Given the description of an element on the screen output the (x, y) to click on. 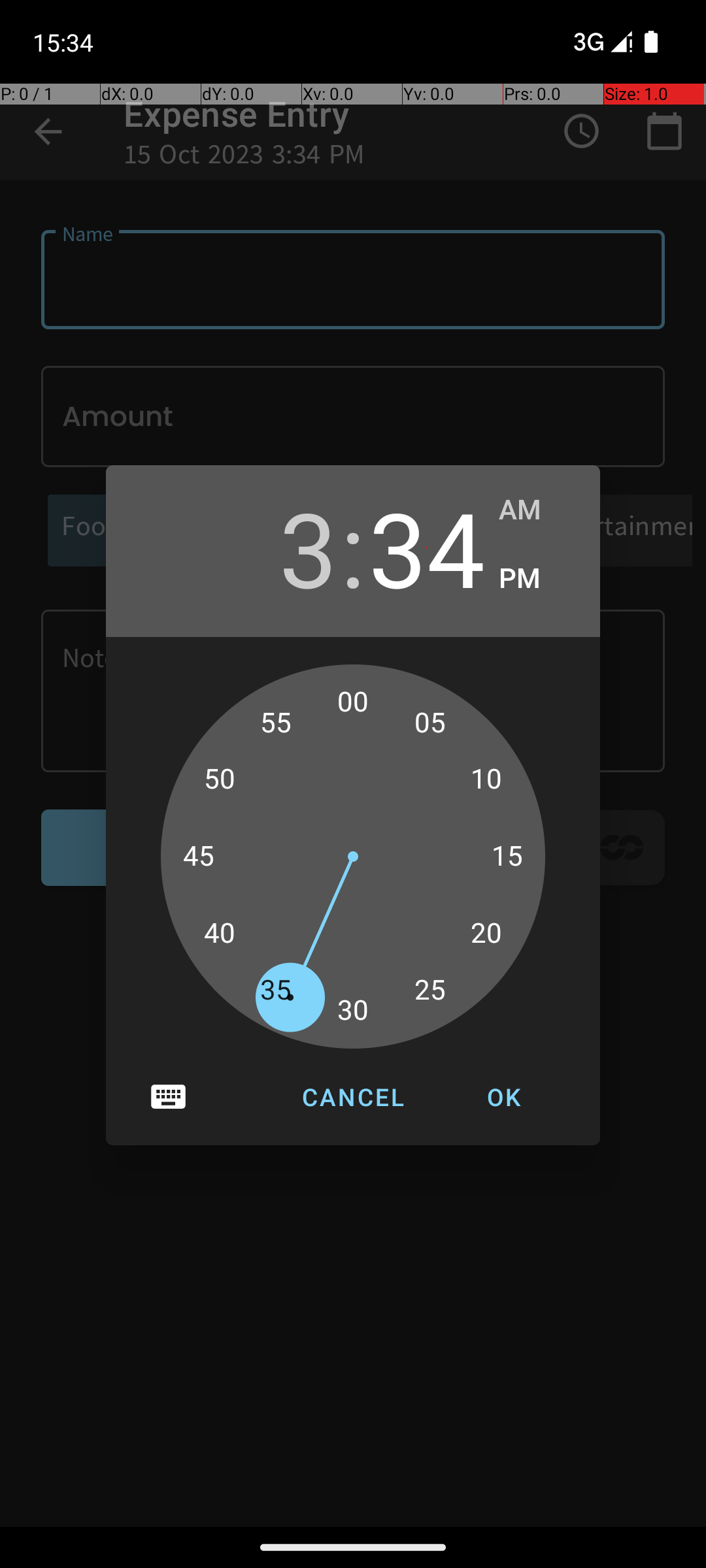
34 Element type: android.widget.TextView (426, 547)
35 Element type: android.widget.RadialTimePickerView$RadialPickerTouchHelper (275, 989)
40 Element type: android.widget.RadialTimePickerView$RadialPickerTouchHelper (218, 933)
45 Element type: android.widget.RadialTimePickerView$RadialPickerTouchHelper (198, 856)
50 Element type: android.widget.RadialTimePickerView$RadialPickerTouchHelper (218, 779)
55 Element type: android.widget.RadialTimePickerView$RadialPickerTouchHelper (275, 722)
CANCEL Element type: android.widget.Button (352, 1096)
AM Element type: android.widget.RadioButton (535, 510)
PM Element type: android.widget.RadioButton (535, 578)
